Given the description of an element on the screen output the (x, y) to click on. 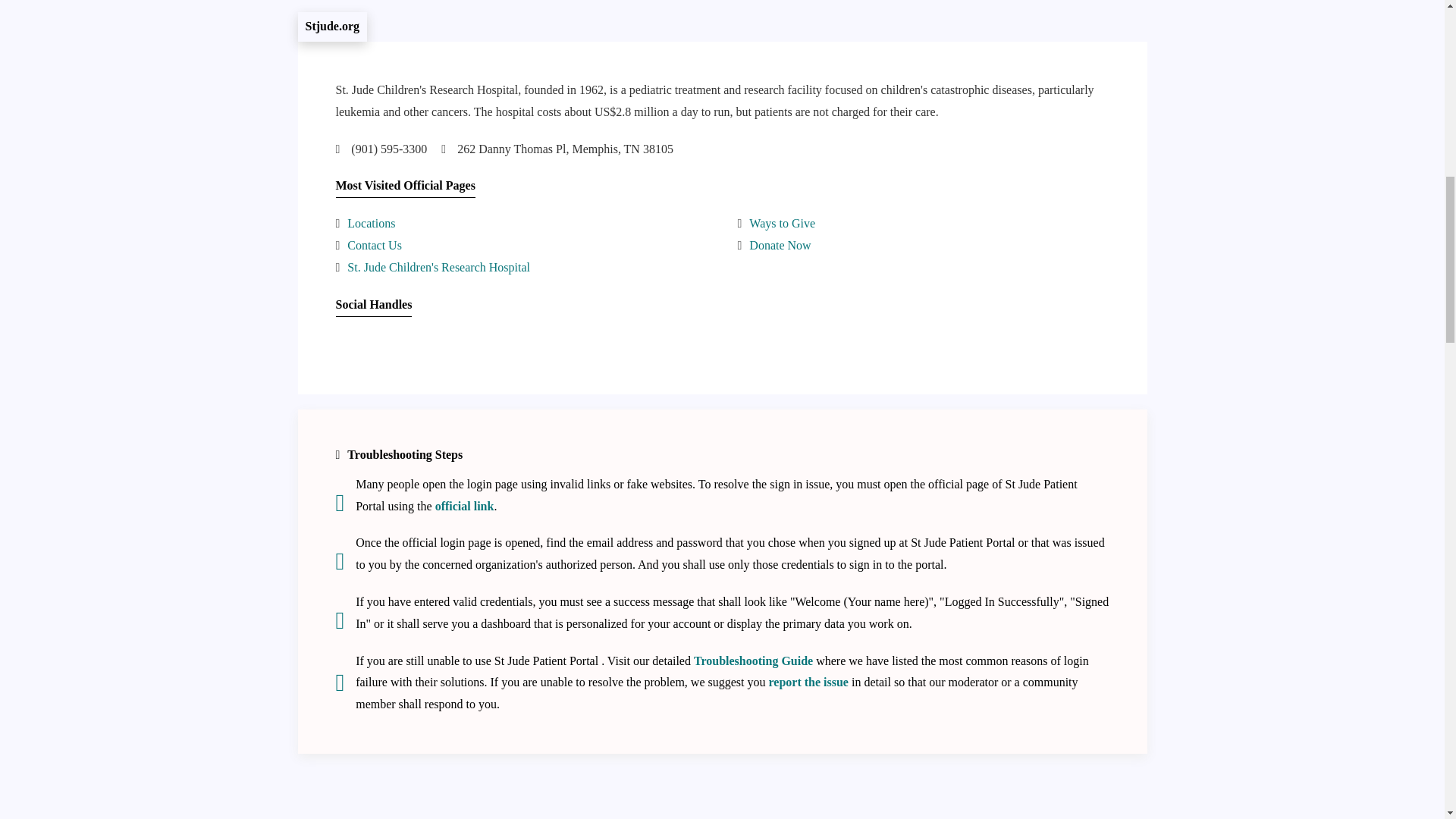
Troubleshooting Guide (753, 660)
Ways to Give (782, 223)
St. Jude Children's Research Hospital (438, 267)
official link (465, 505)
Contact Us (374, 245)
report the issue (808, 681)
Locations (370, 223)
Donate Now (779, 245)
